Given the description of an element on the screen output the (x, y) to click on. 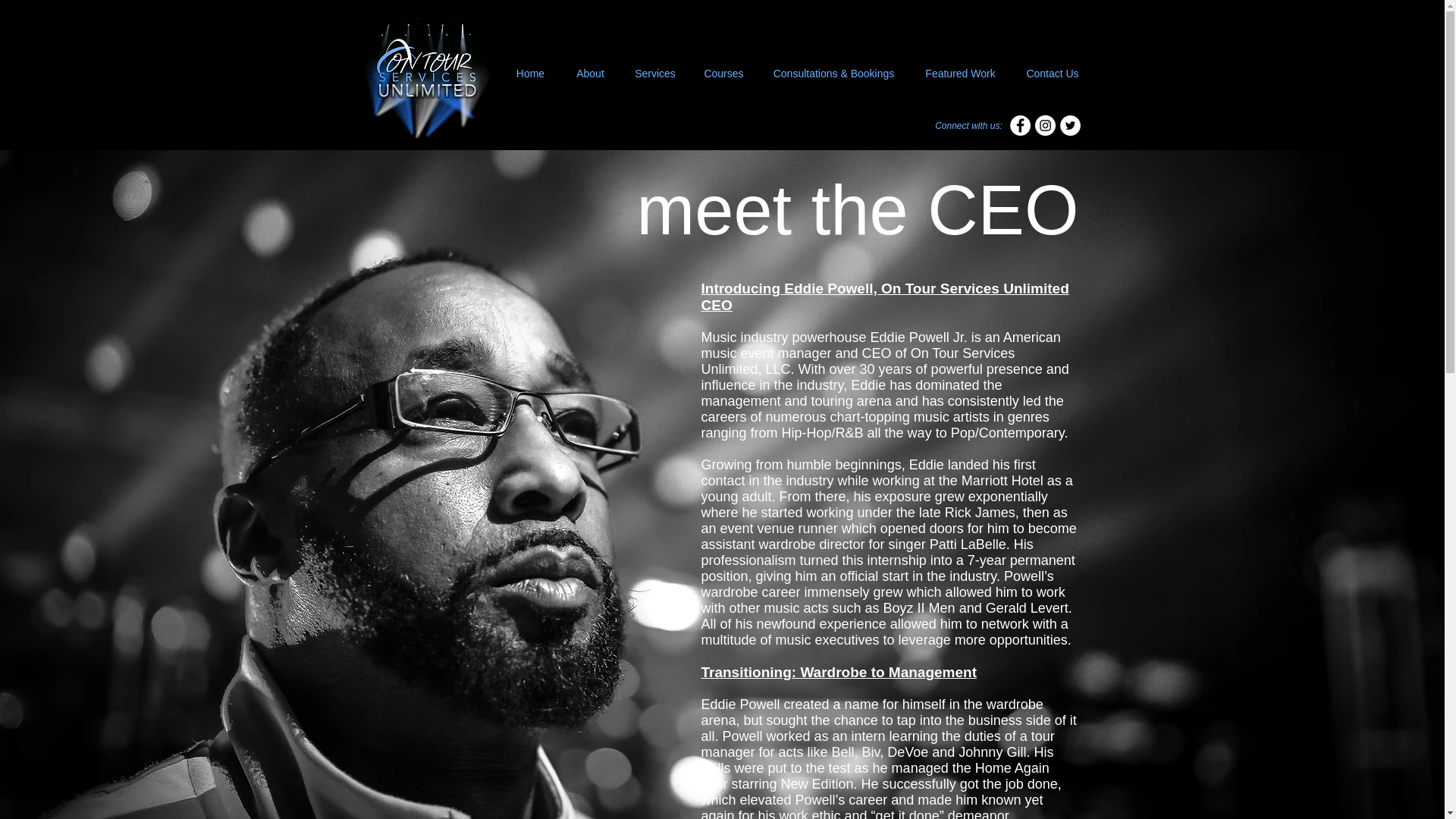
Contact Us (1052, 73)
Home (529, 73)
Services (654, 73)
Featured Work (960, 73)
Courses (724, 73)
